Given the description of an element on the screen output the (x, y) to click on. 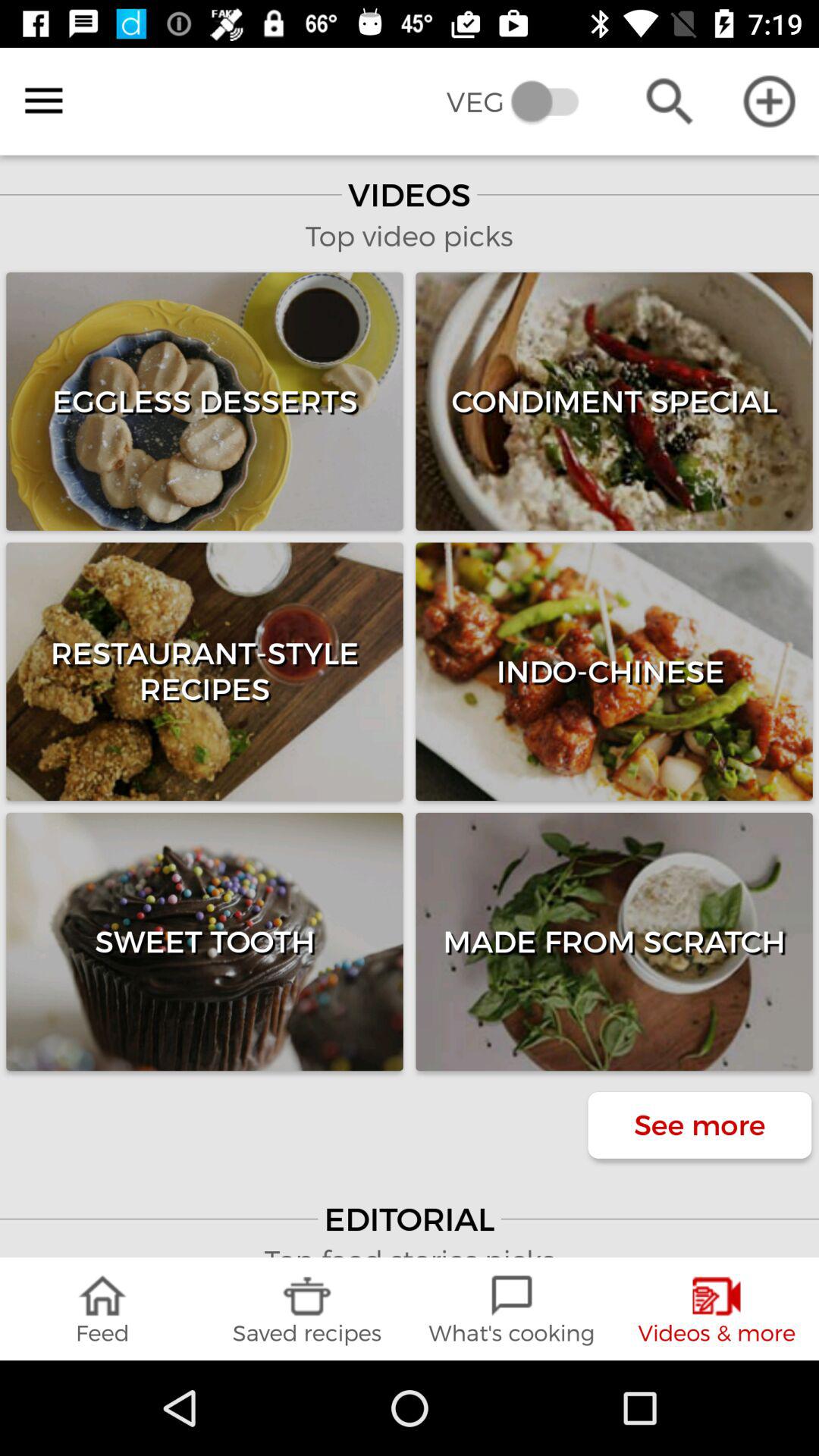
turn on the icon to the right of feed (306, 1308)
